Given the description of an element on the screen output the (x, y) to click on. 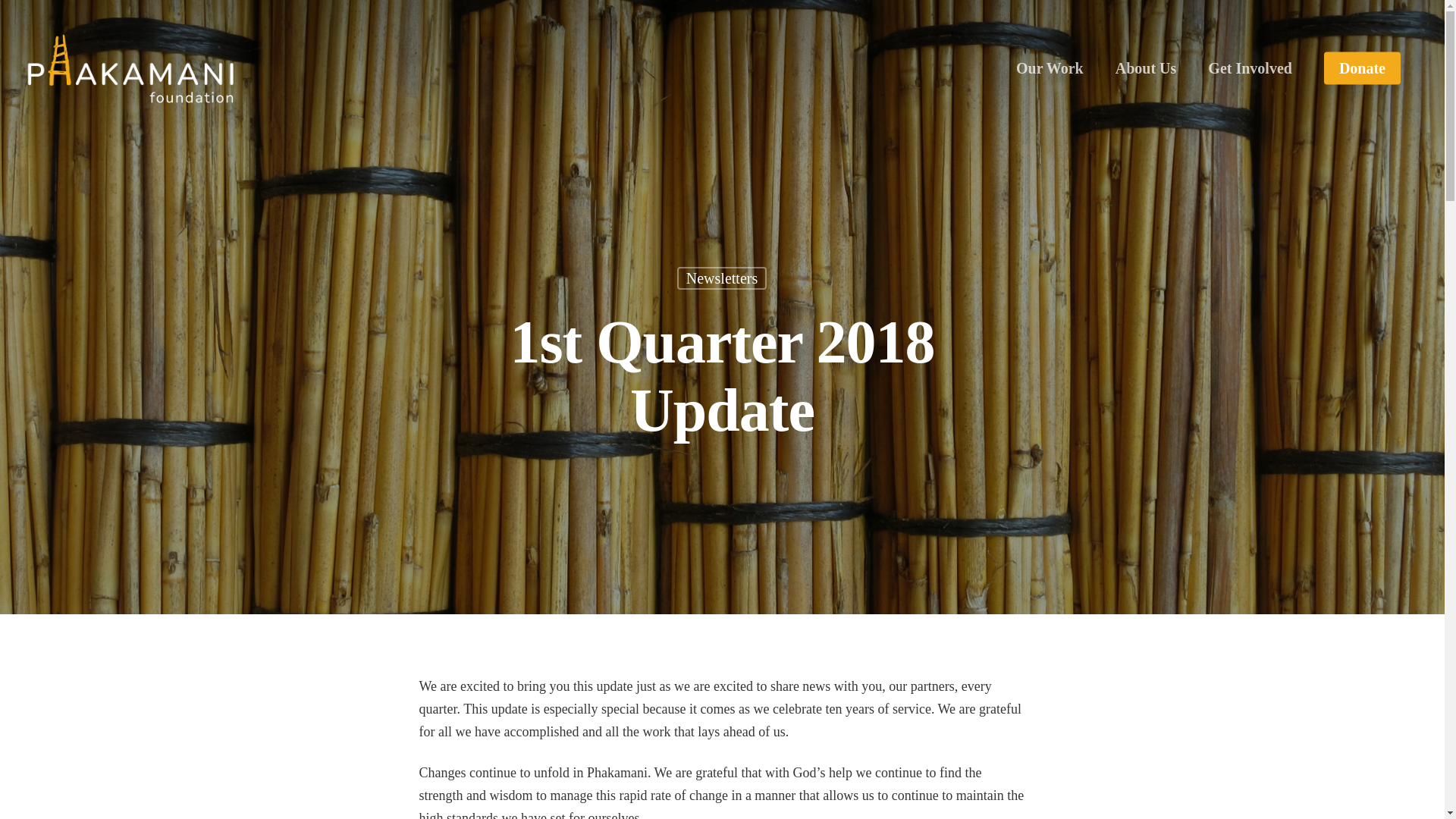
Get Involved (1250, 67)
About Us (1145, 67)
Donate (1361, 67)
Newsletters (722, 296)
Our Work (1049, 67)
